Given the description of an element on the screen output the (x, y) to click on. 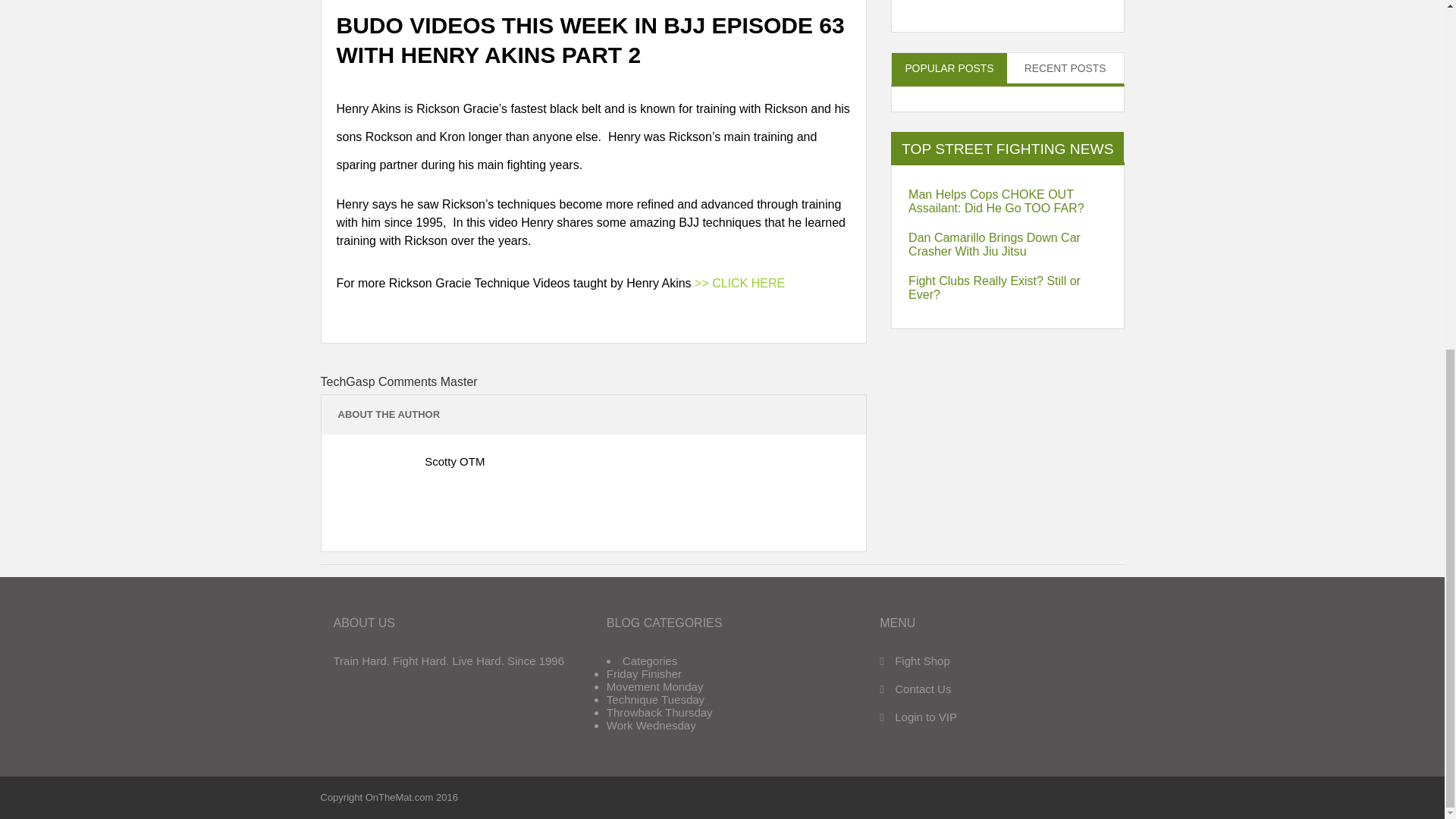
POPULAR POSTS (949, 68)
RECENT POSTS (1064, 68)
Man Helps Cops CHOKE OUT Assailant: Did He Go TOO FAR? (1007, 201)
